Given the description of an element on the screen output the (x, y) to click on. 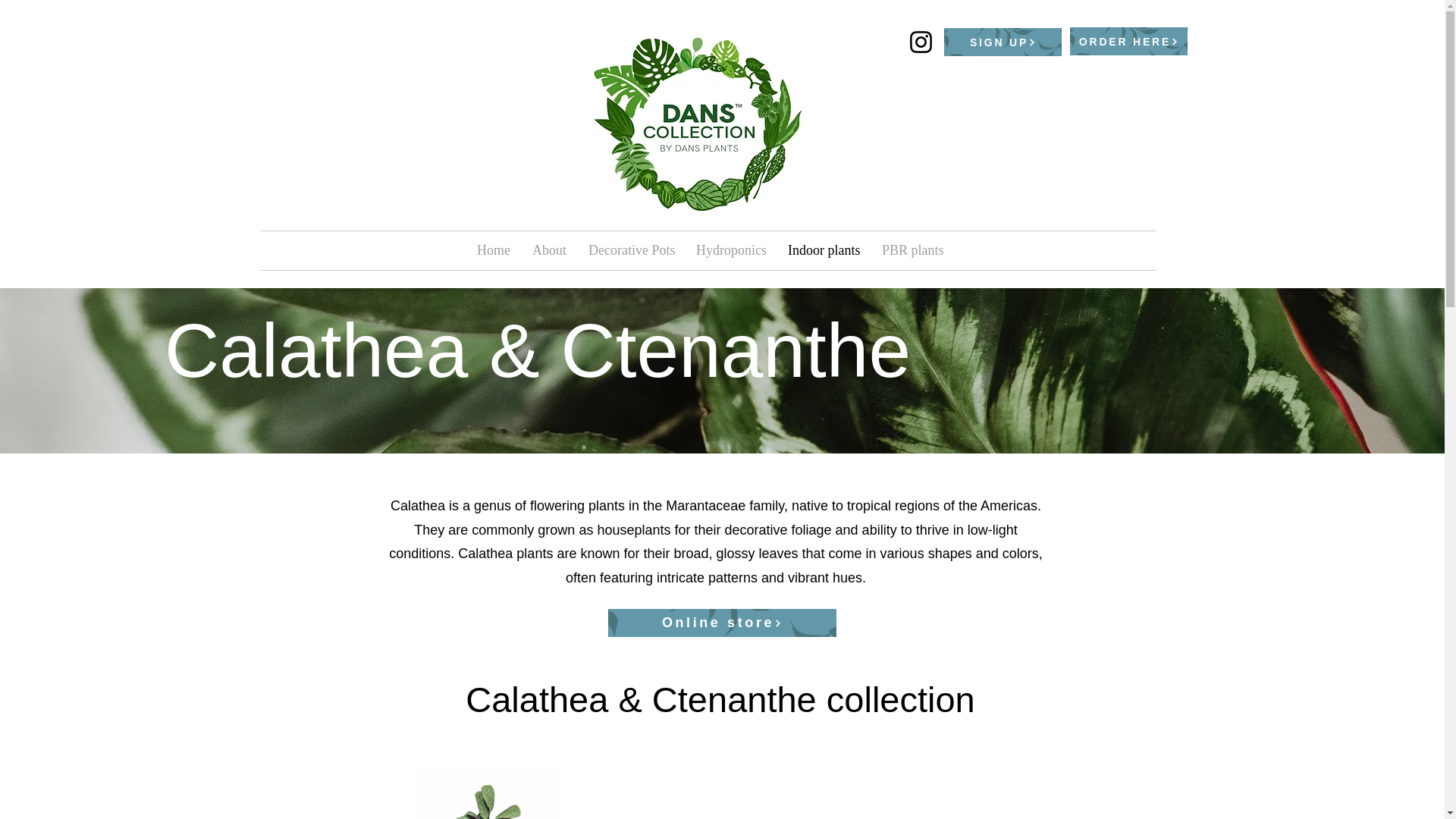
Hydroponics (730, 250)
PBR plants (910, 250)
Decorative Pots (630, 250)
Indoor plants (823, 250)
SIGN UP (1002, 41)
About (548, 250)
Home (493, 250)
ORDER HERE (1129, 41)
Online store (721, 623)
